Given the description of an element on the screen output the (x, y) to click on. 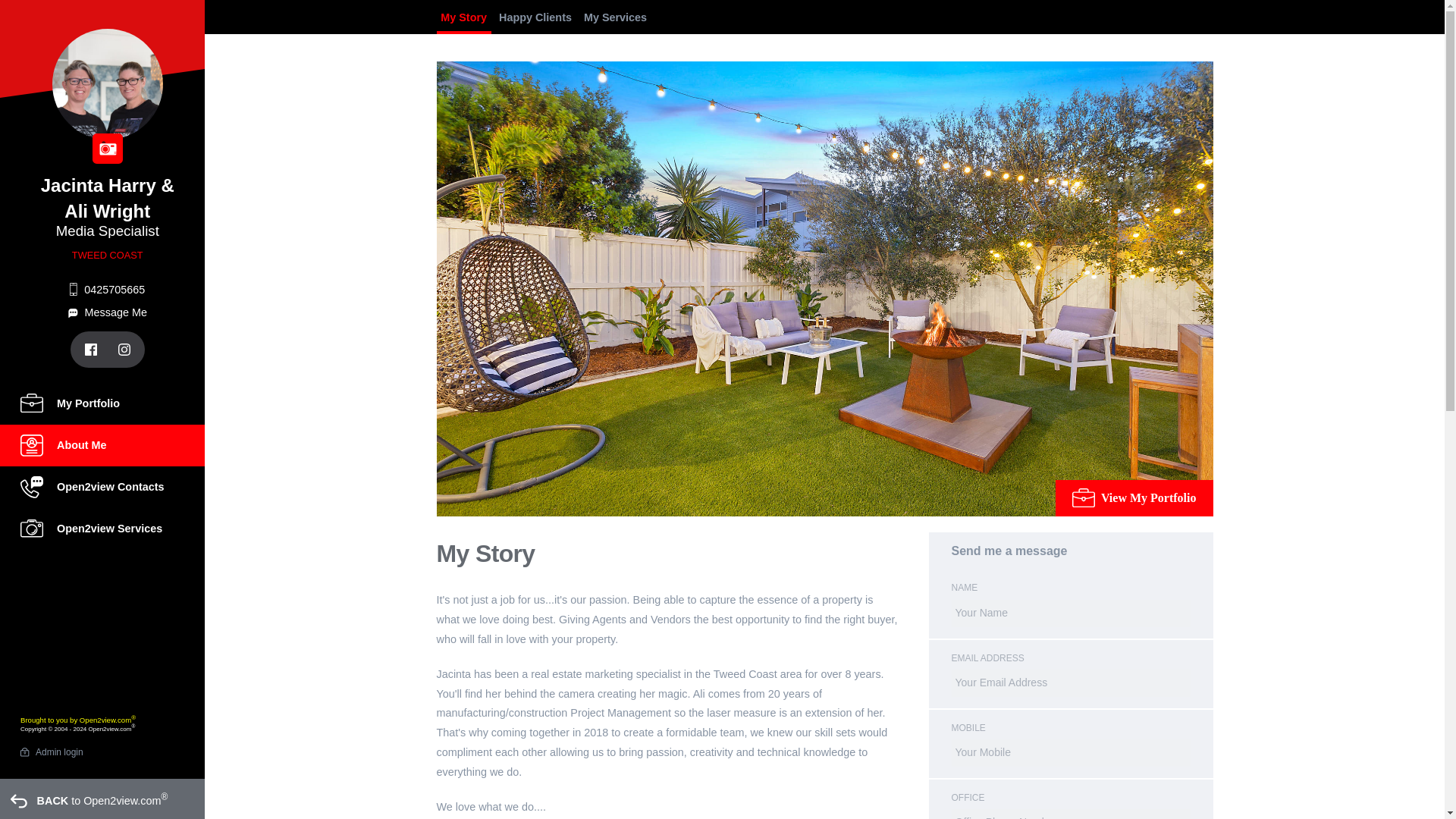
About Me (102, 445)
My Services (614, 19)
View My Portfolio (1133, 497)
My Story Happy Clients My Services (824, 19)
Happy Clients (535, 19)
Message Me (107, 312)
My Portfolio (102, 404)
Open2view Services (102, 528)
My Story (464, 19)
Open2view Contacts (102, 486)
0425705665 (107, 289)
Admin login (58, 751)
